Given the description of an element on the screen output the (x, y) to click on. 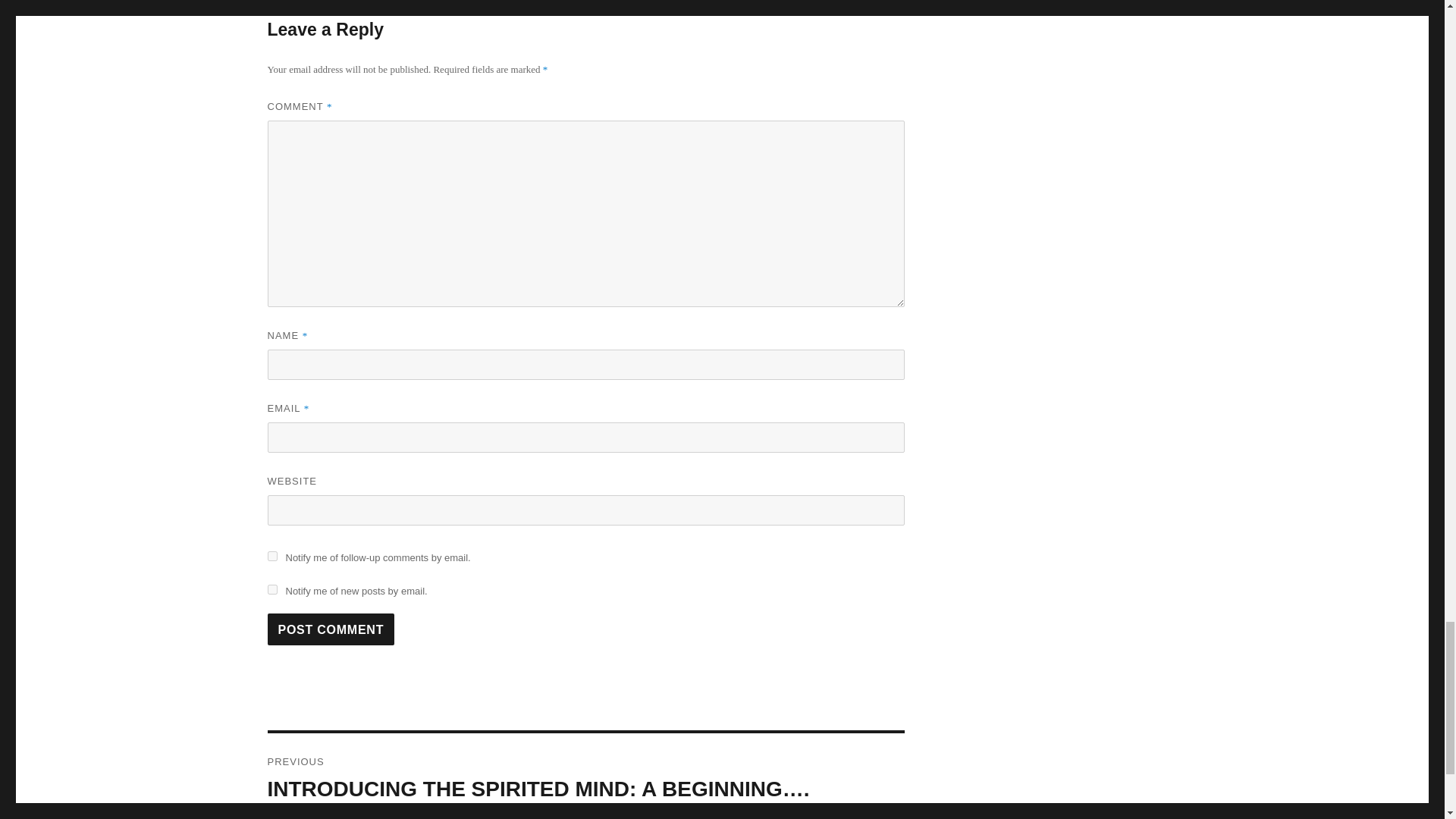
Post Comment (330, 629)
Post Comment (330, 629)
subscribe (271, 589)
subscribe (271, 556)
